Given the description of an element on the screen output the (x, y) to click on. 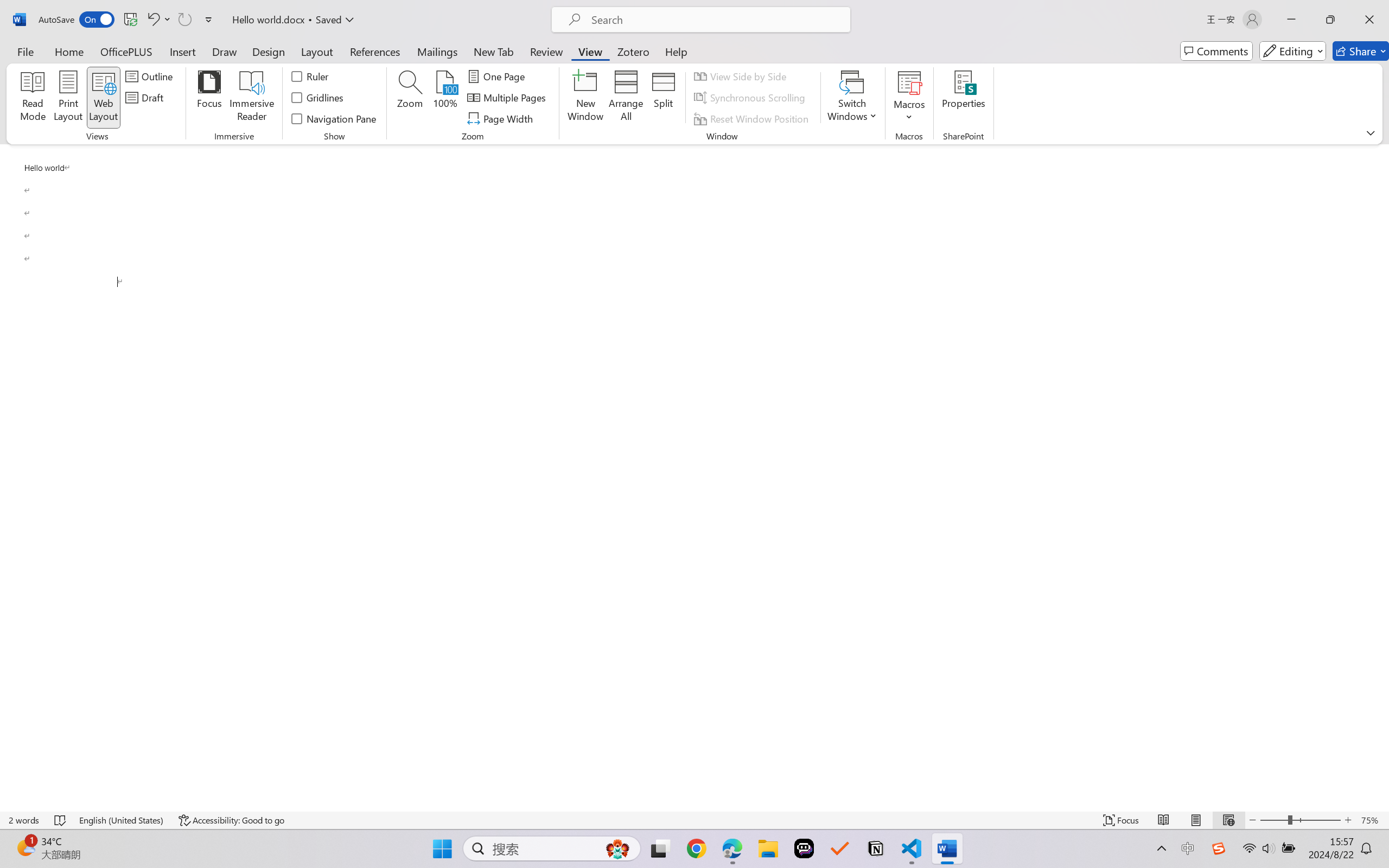
Ruler (309, 75)
Comments (1216, 50)
Layout (316, 51)
AutomationID: BadgeAnchorLargeTicker (24, 847)
100% (445, 97)
More Options (909, 112)
Microsoft search (715, 19)
Restore Down (1330, 19)
Help (675, 51)
Accessibility Checker Accessibility: Good to go (231, 819)
Synchronous Scrolling (751, 97)
New Window (585, 97)
Draw (224, 51)
Ribbon Display Options (1370, 132)
